Given the description of an element on the screen output the (x, y) to click on. 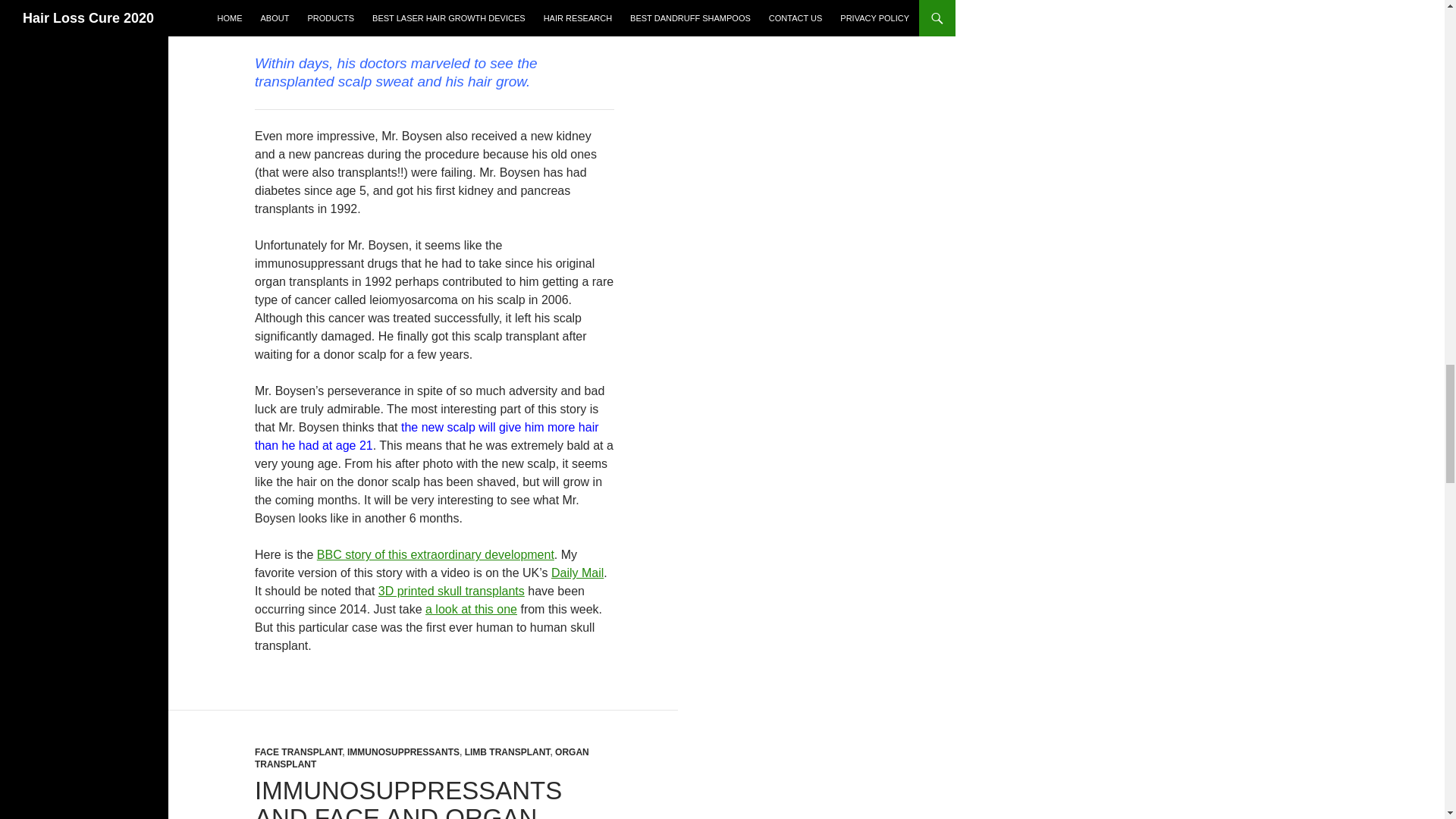
a look at this one (470, 608)
3D printed skull transplants (451, 590)
FACE TRANSPLANT (298, 751)
BBC story of this extraordinary development (435, 554)
IMMUNOSUPPRESSANTS AND FACE AND ORGAN TRANSPLANTS (408, 797)
Daily Mail (577, 572)
LIMB TRANSPLANT (507, 751)
ORGAN TRANSPLANT (421, 757)
IMMUNOSUPPRESSANTS (403, 751)
